Given the description of an element on the screen output the (x, y) to click on. 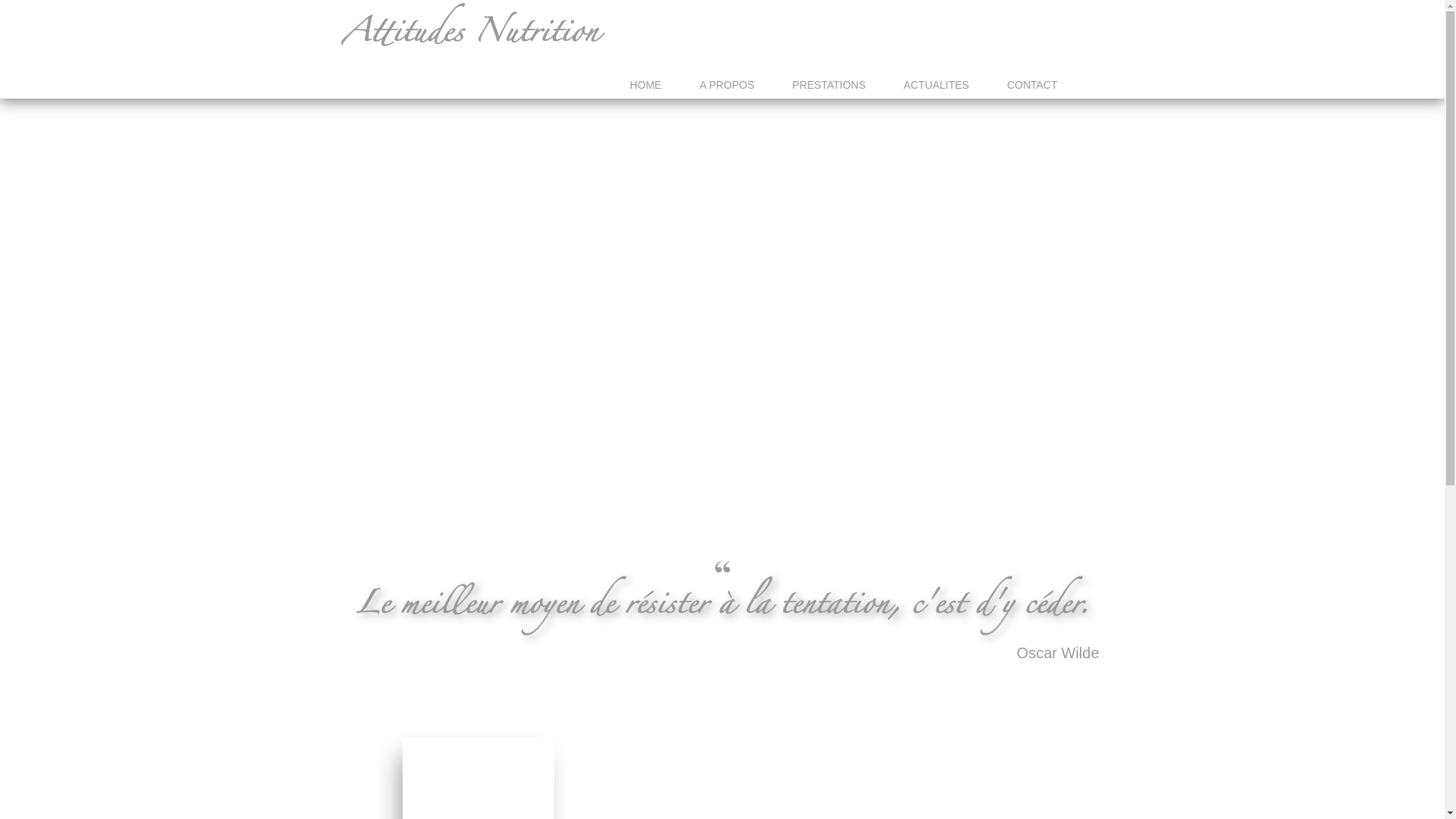
ACTUALITES Element type: text (936, 84)
HOME Element type: text (645, 84)
PRESTATIONS Element type: text (829, 84)
A PROPOS Element type: text (726, 84)
CONTACT Element type: text (1032, 84)
